Given the description of an element on the screen output the (x, y) to click on. 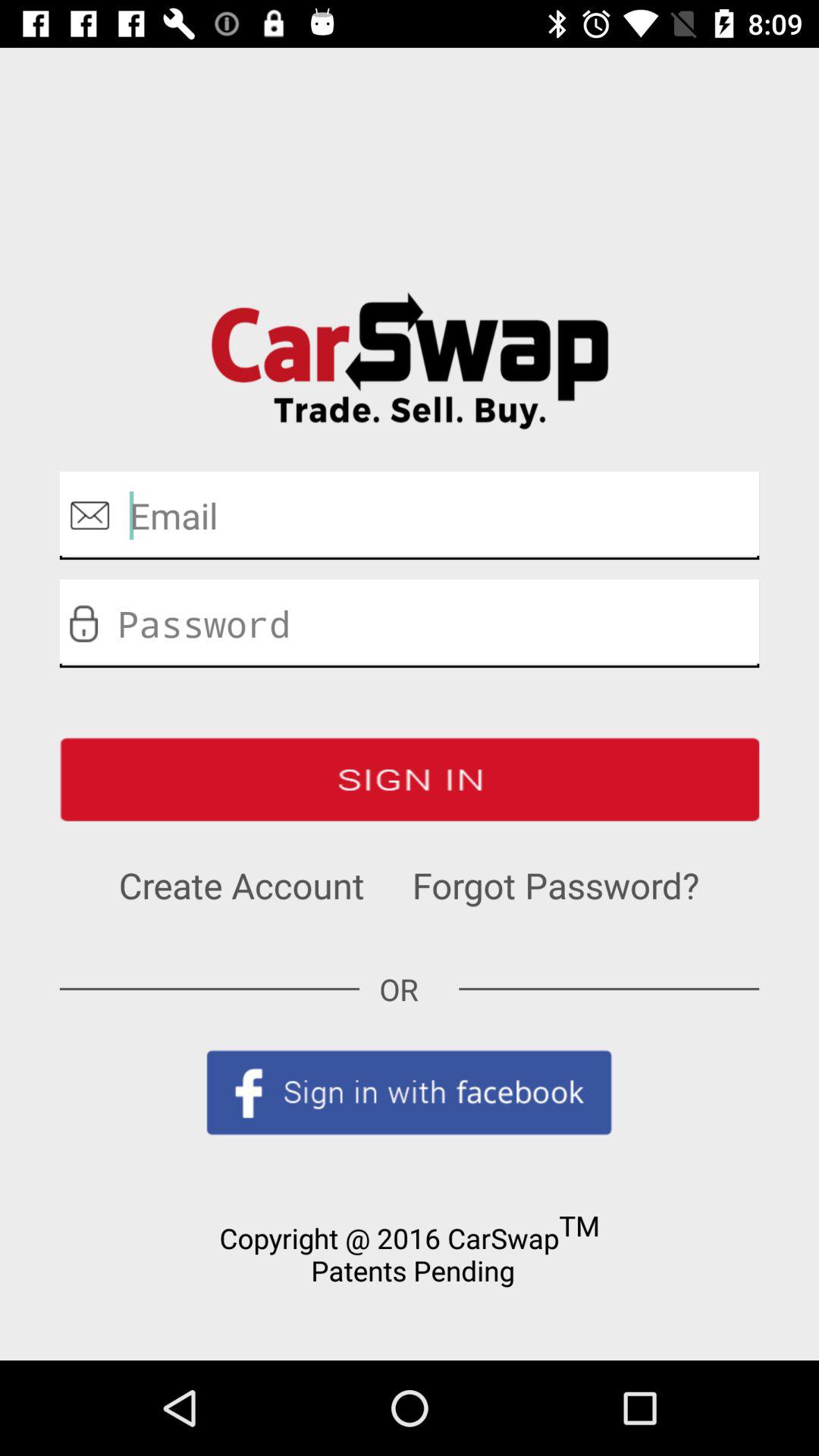
sign in facebook for login (409, 1092)
